Given the description of an element on the screen output the (x, y) to click on. 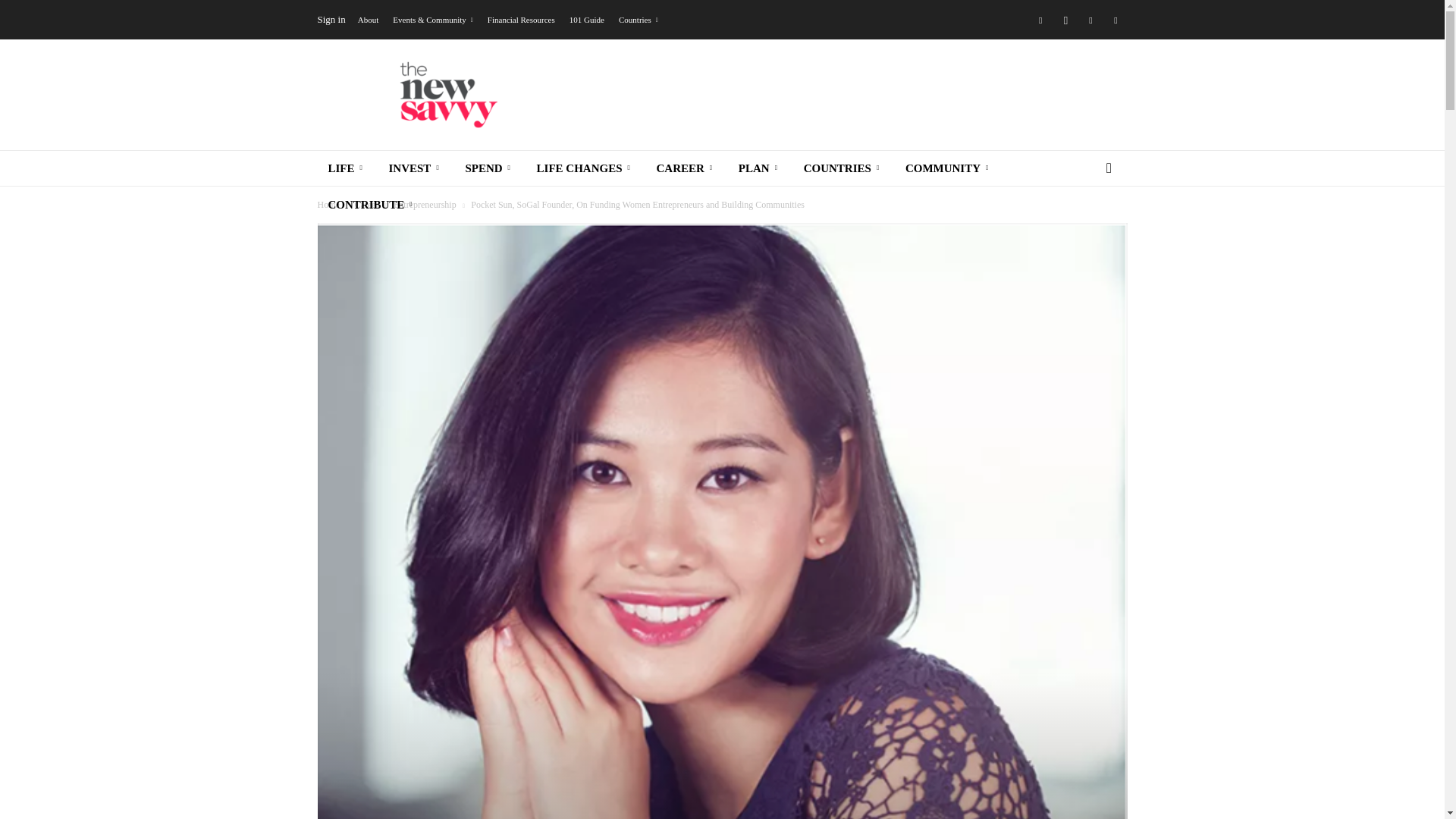
Instagram (1065, 19)
Linkedin (1090, 19)
Pinterest (1114, 19)
Facebook (1040, 19)
